Given the description of an element on the screen output the (x, y) to click on. 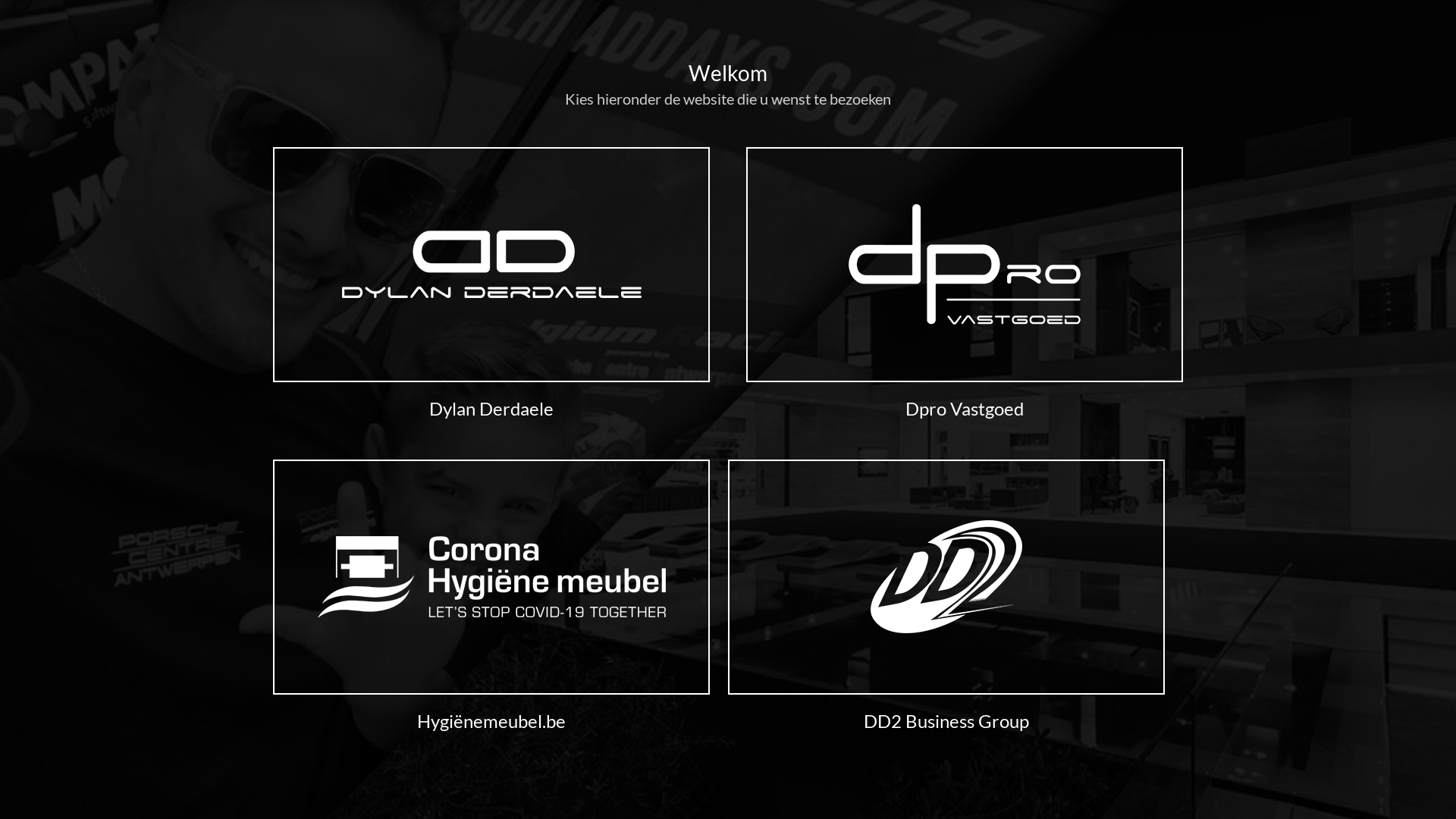
Dpro Vastgoed Element type: text (964, 408)
Bezoek Dylan Derdaele Element type: hover (491, 264)
Bezoek Dpro Vastgoed Element type: hover (964, 264)
DD2 Business Group Element type: text (946, 720)
DD2 Business Group Element type: hover (946, 576)
Dylan Derdaele Element type: text (491, 408)
